Given the description of an element on the screen output the (x, y) to click on. 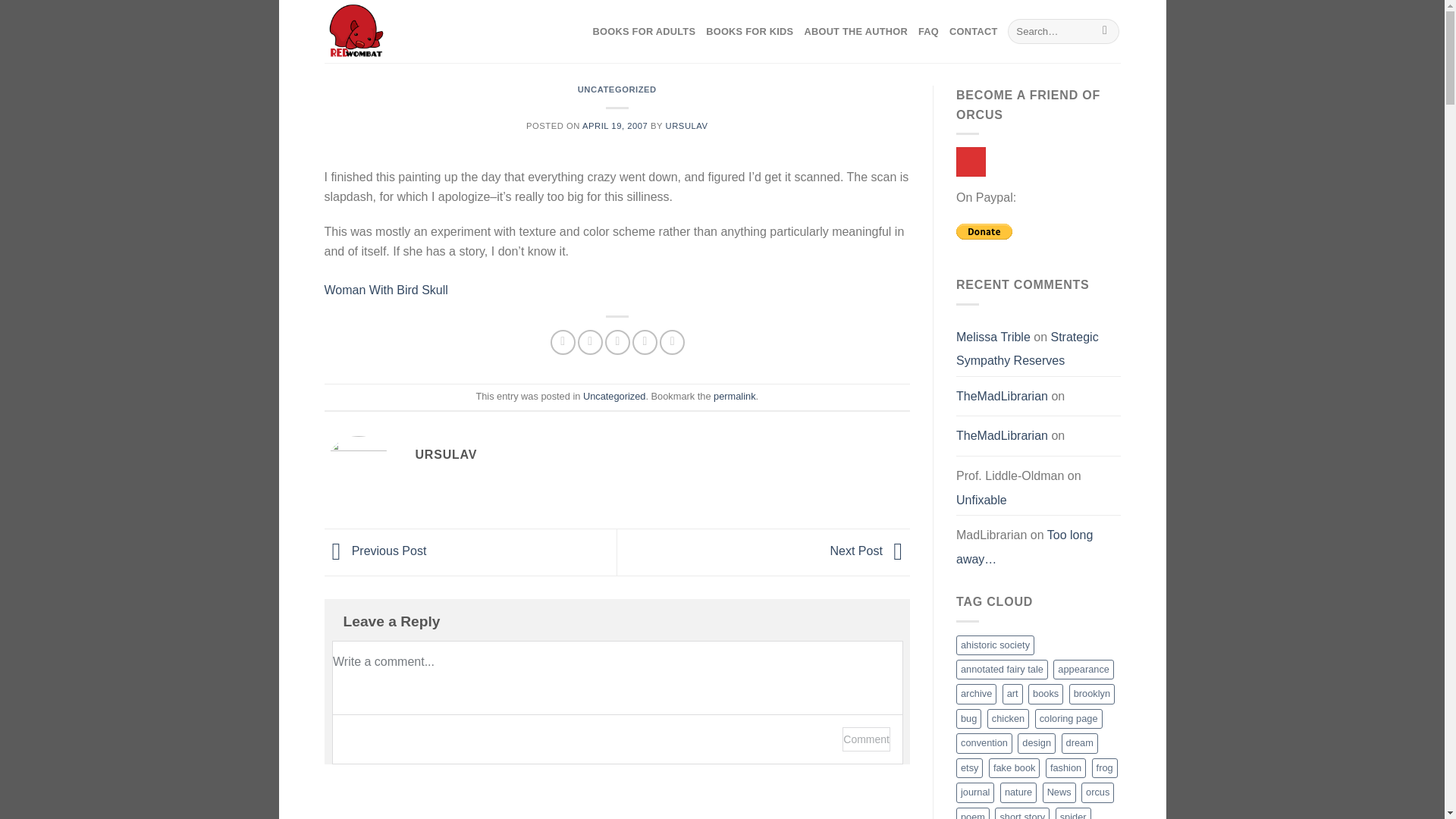
Woman With Bird Skull (386, 299)
UNCATEGORIZED (617, 89)
Pin on Pinterest (644, 342)
APRIL 19, 2007 (614, 125)
BOOKS FOR ADULTS (643, 31)
Permalink to  (734, 396)
Share on Facebook (562, 342)
Share on LinkedIn (671, 342)
Uncategorized (614, 396)
Email to a Friend (617, 342)
permalink (734, 396)
URSULAV (686, 125)
BOOKS FOR KIDS (749, 31)
Share on Twitter (590, 342)
Previous Post (375, 551)
